Given the description of an element on the screen output the (x, y) to click on. 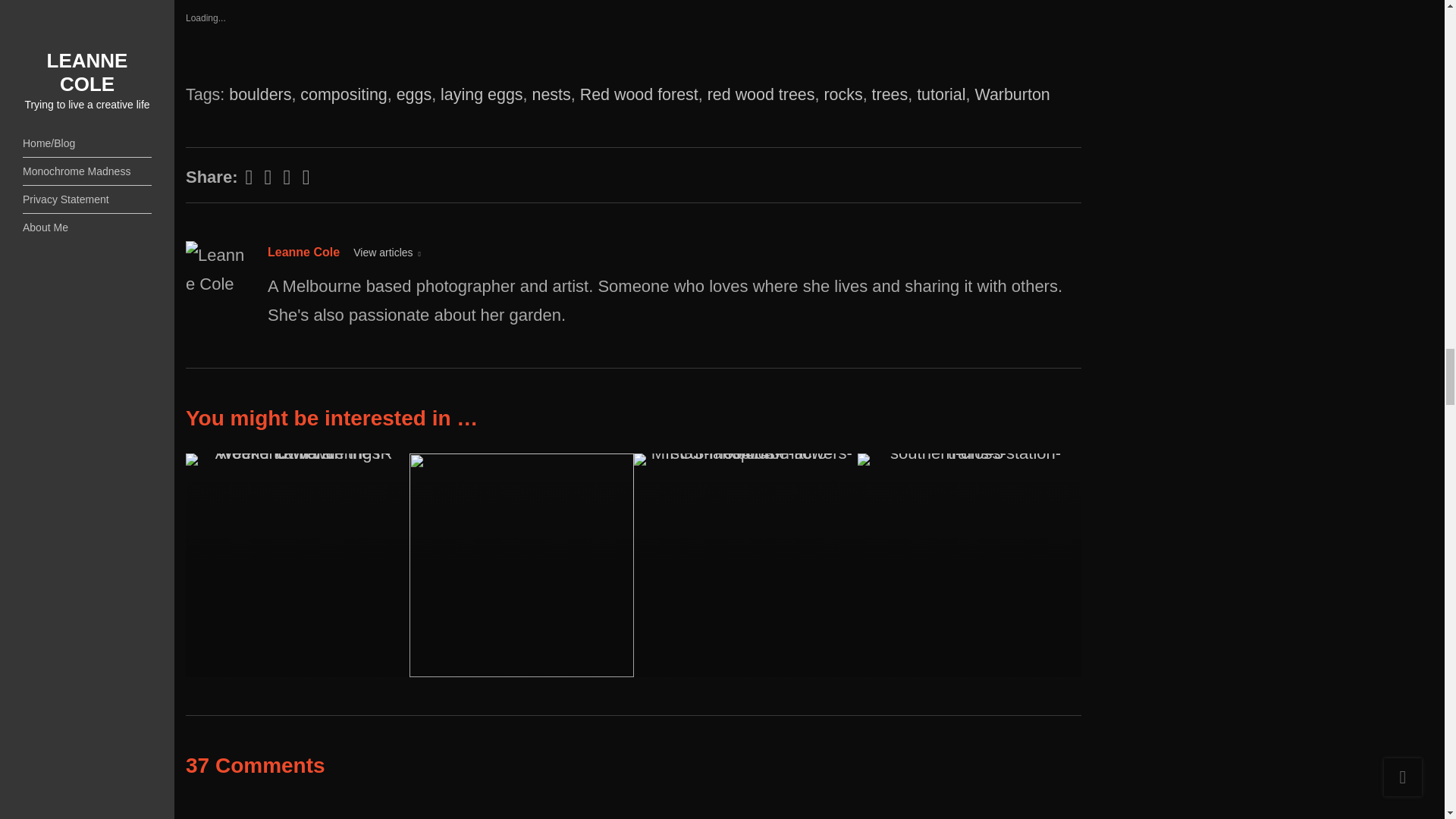
compositing (343, 94)
nests (550, 94)
rocks (842, 94)
tutorial (941, 94)
boulders (259, 94)
trees (890, 94)
eggs (414, 94)
View articles (386, 252)
Red wood forest (638, 94)
red wood trees (761, 94)
laying eggs (481, 94)
Warburton (1011, 94)
